Given the description of an element on the screen output the (x, y) to click on. 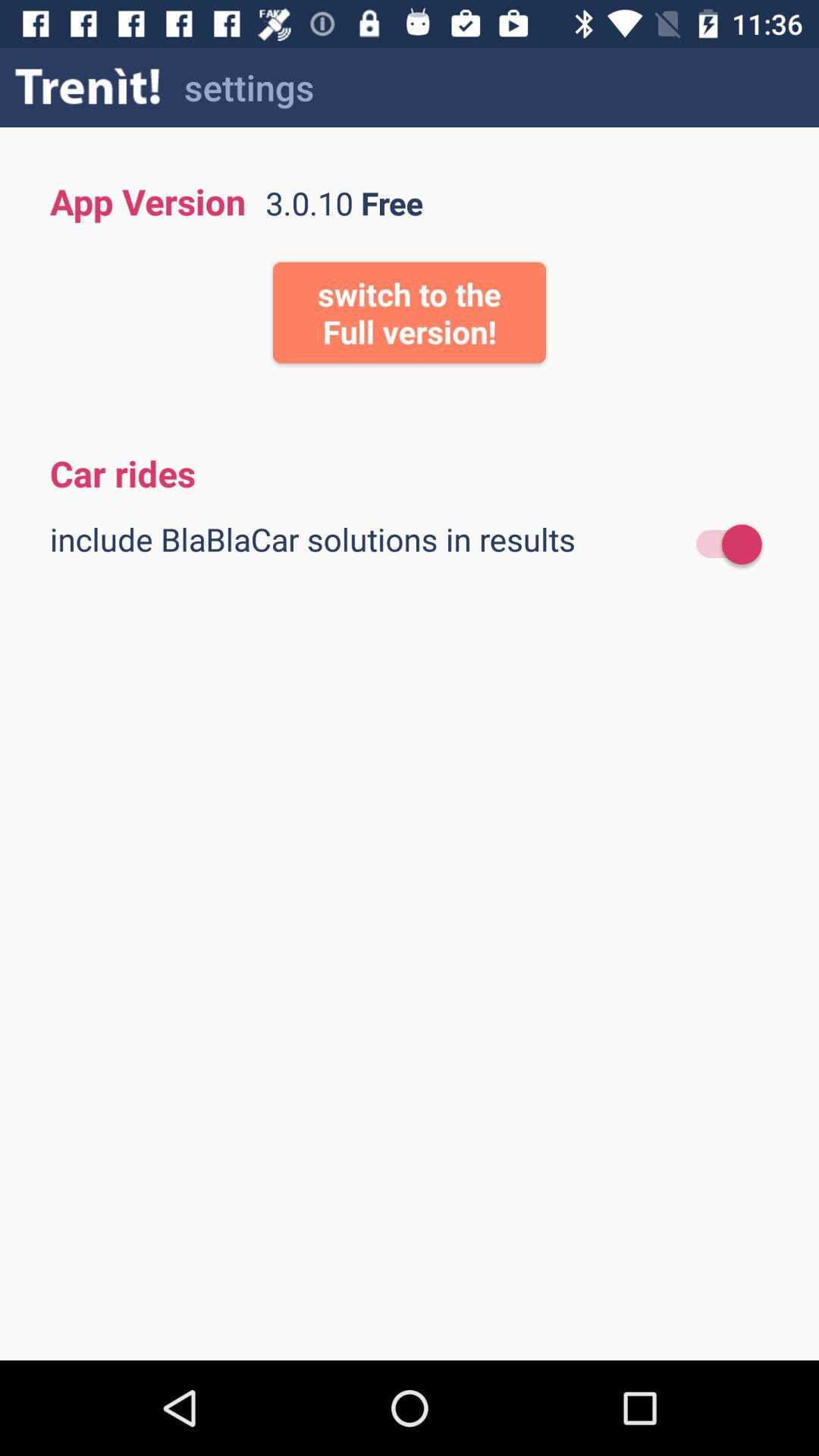
tap item to the left of settings (88, 87)
